Given the description of an element on the screen output the (x, y) to click on. 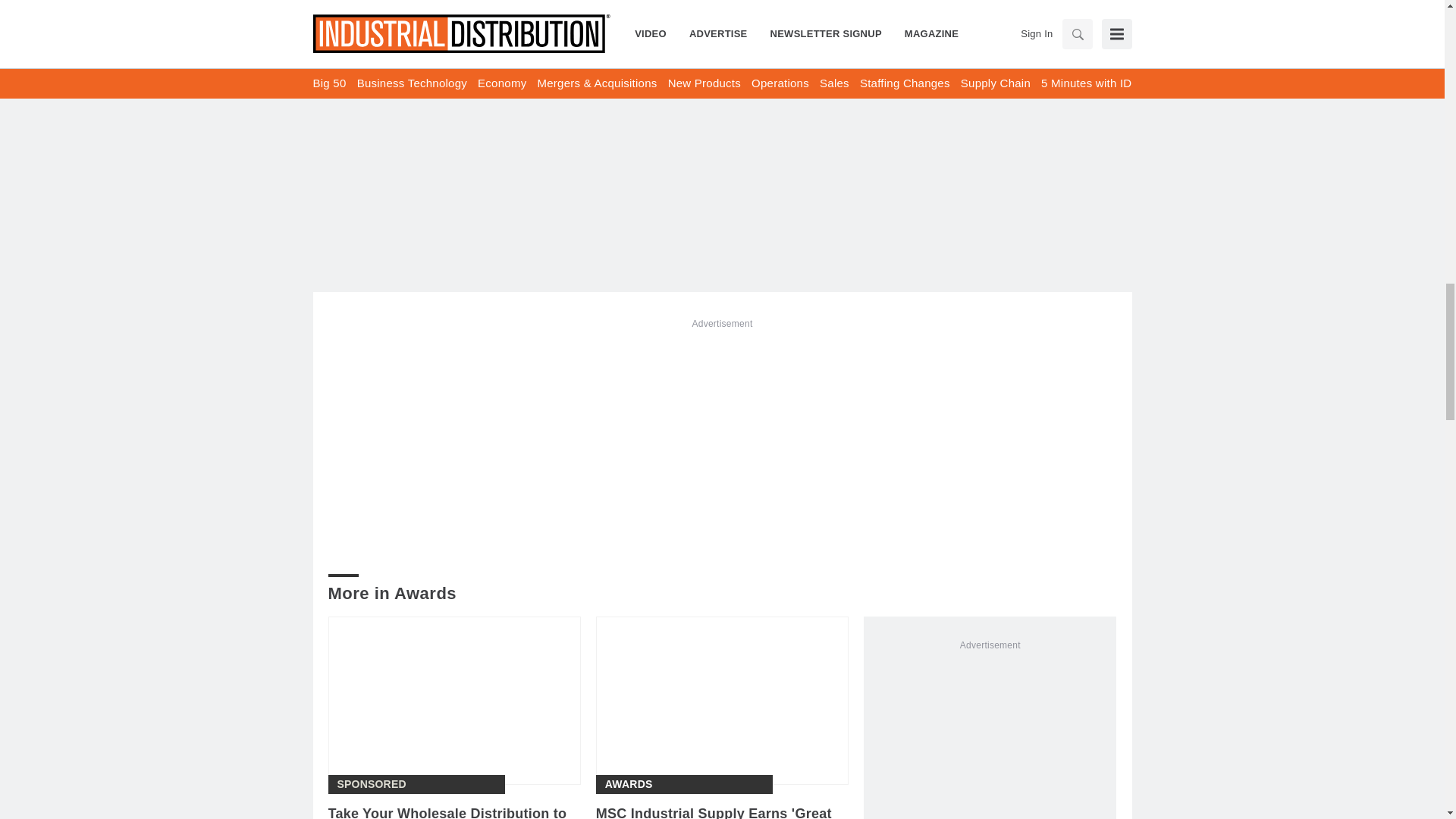
Sponsored (371, 784)
Awards (628, 784)
